Given the description of an element on the screen output the (x, y) to click on. 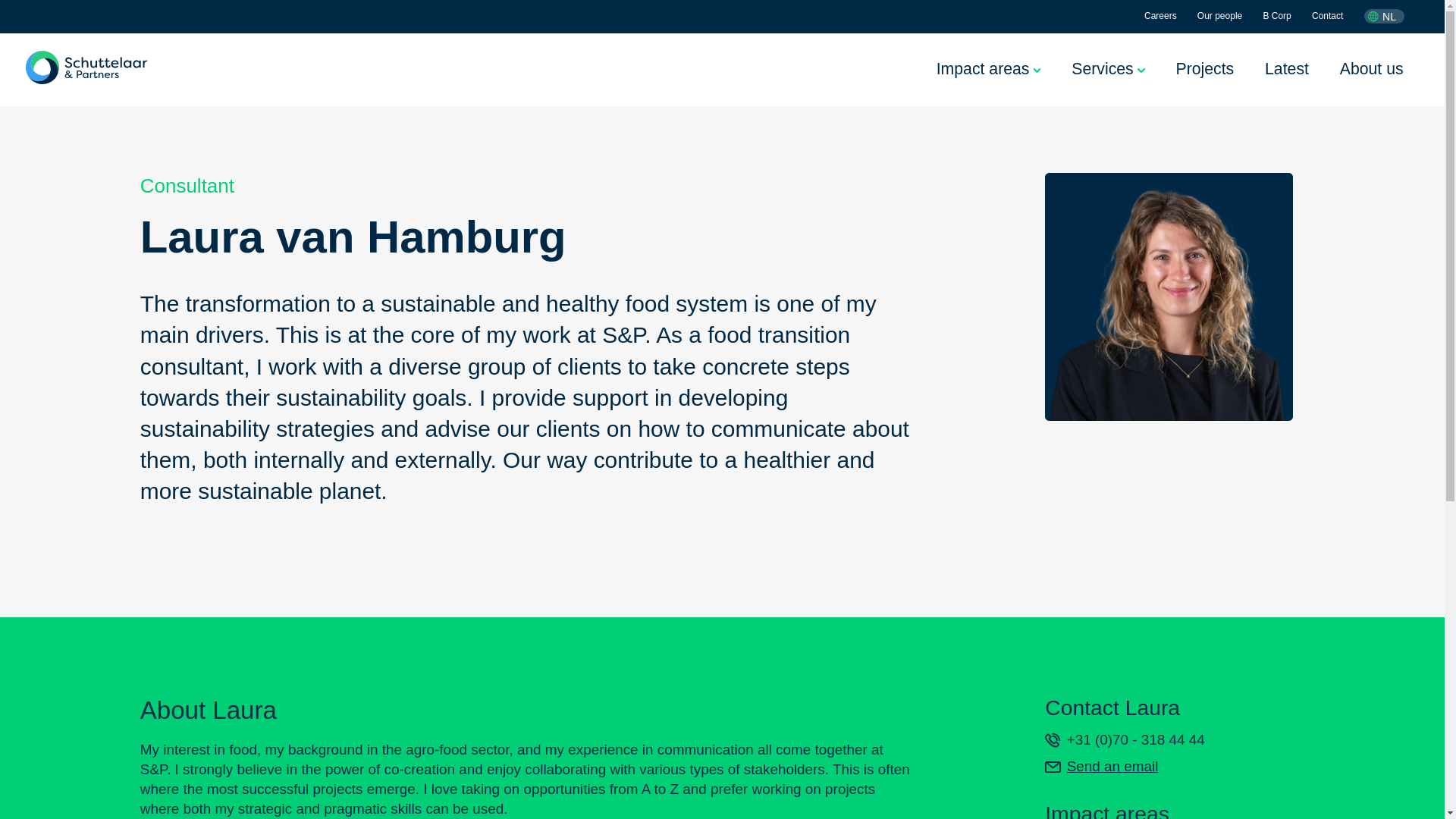
B Corp (1276, 16)
NL (1382, 16)
Services (1107, 69)
Contact (1326, 16)
Impact areas (988, 69)
Our people (1218, 16)
Careers (1160, 16)
About us (1371, 69)
Projects (1203, 69)
Latest (1286, 69)
